Given the description of an element on the screen output the (x, y) to click on. 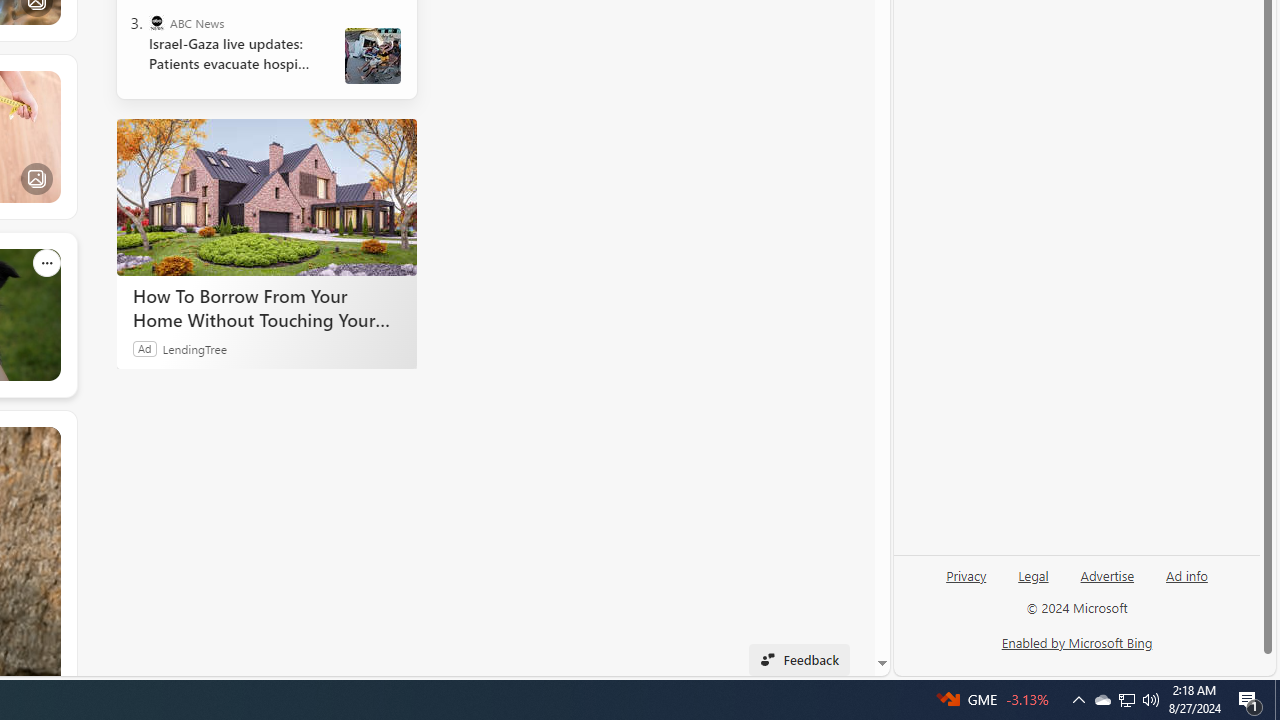
ABC News (156, 22)
